Given the description of an element on the screen output the (x, y) to click on. 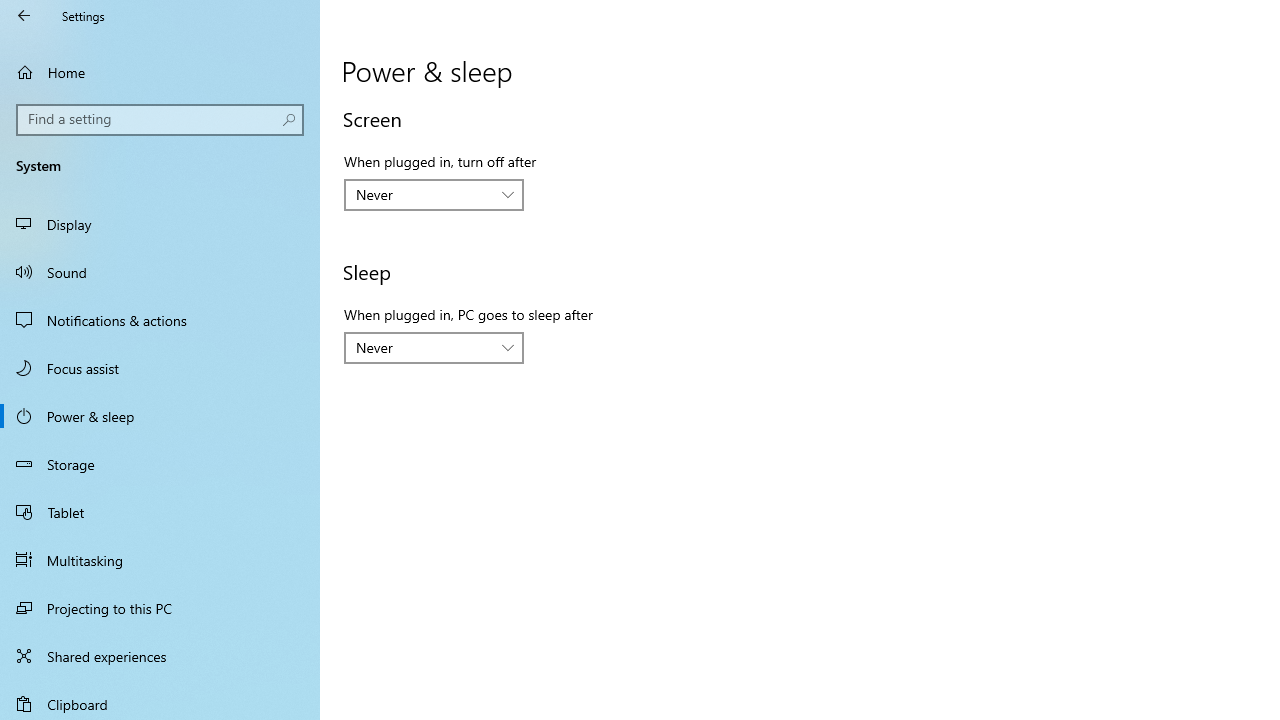
Storage (160, 463)
Power & sleep (160, 415)
Notifications & actions (160, 319)
Focus assist (160, 367)
Display (160, 223)
Sound (160, 271)
Shared experiences (160, 655)
Projecting to this PC (160, 607)
When plugged in, turn off after (433, 194)
When plugged in, PC goes to sleep after (433, 347)
Tablet (160, 511)
Never (423, 347)
